Given the description of an element on the screen output the (x, y) to click on. 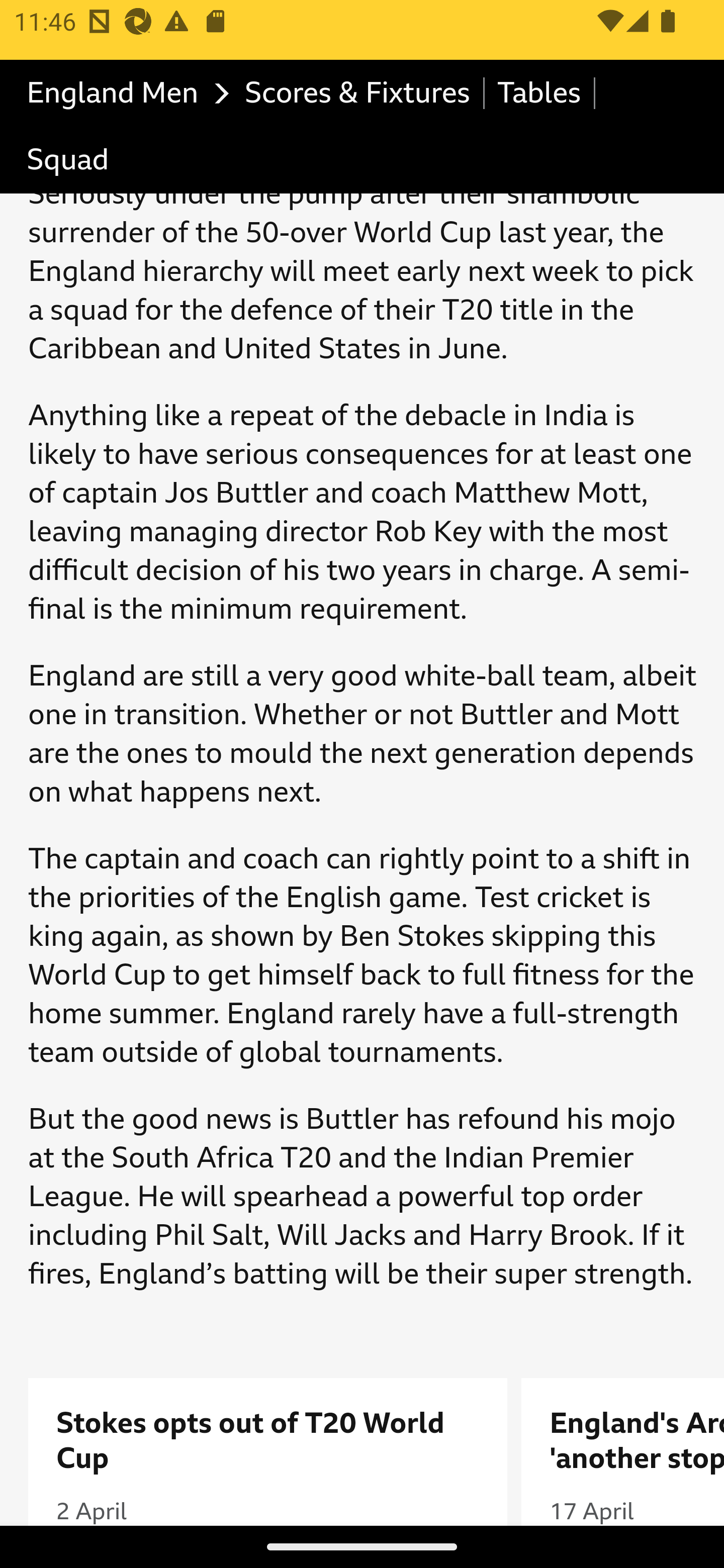
Stokes opts out of T20 World Cup (268, 1440)
